Given the description of an element on the screen output the (x, y) to click on. 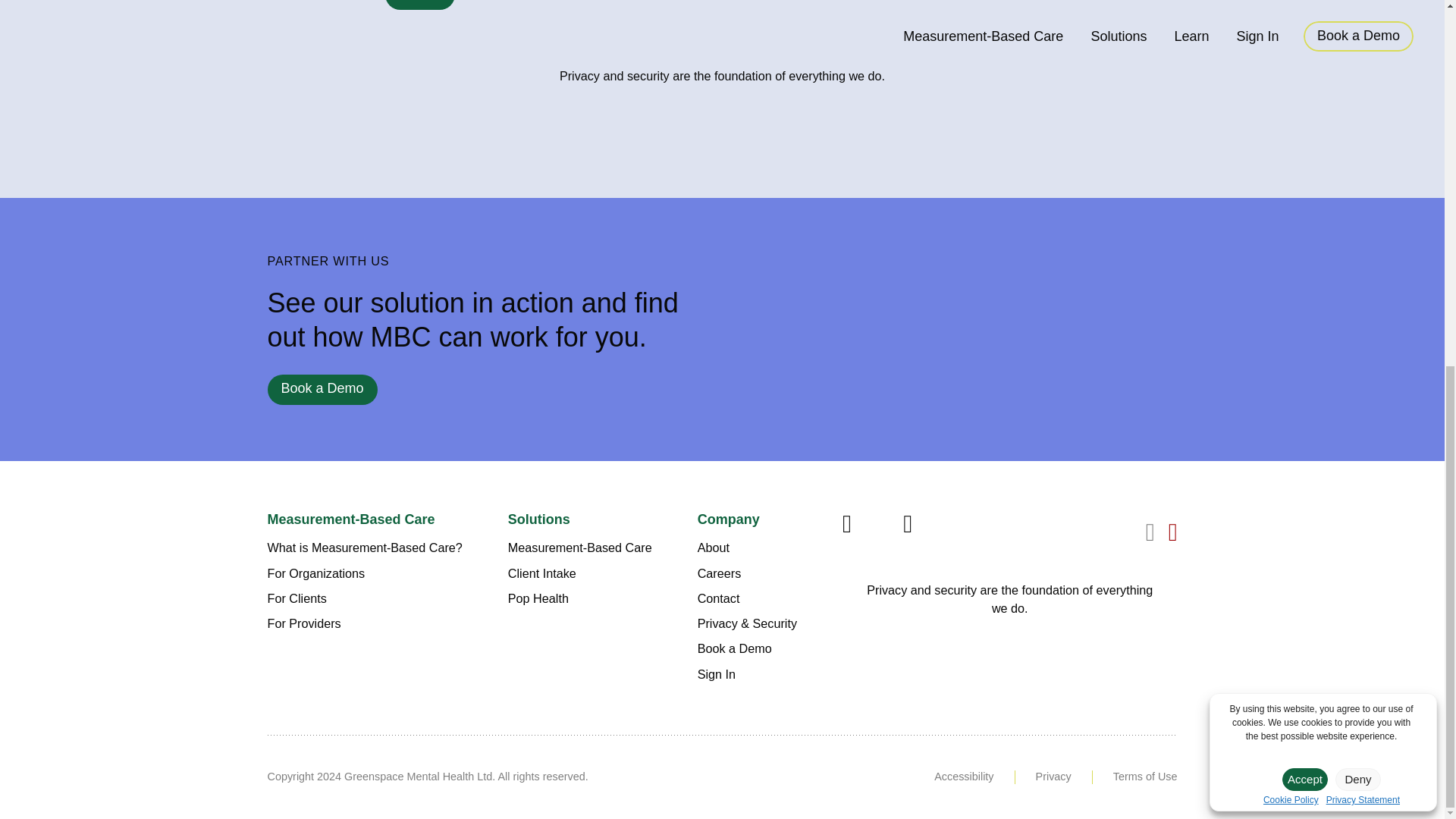
Deny (1357, 121)
Privacy Statement (1362, 142)
Cookie Policy (1291, 142)
Accept (1304, 121)
